Given the description of an element on the screen output the (x, y) to click on. 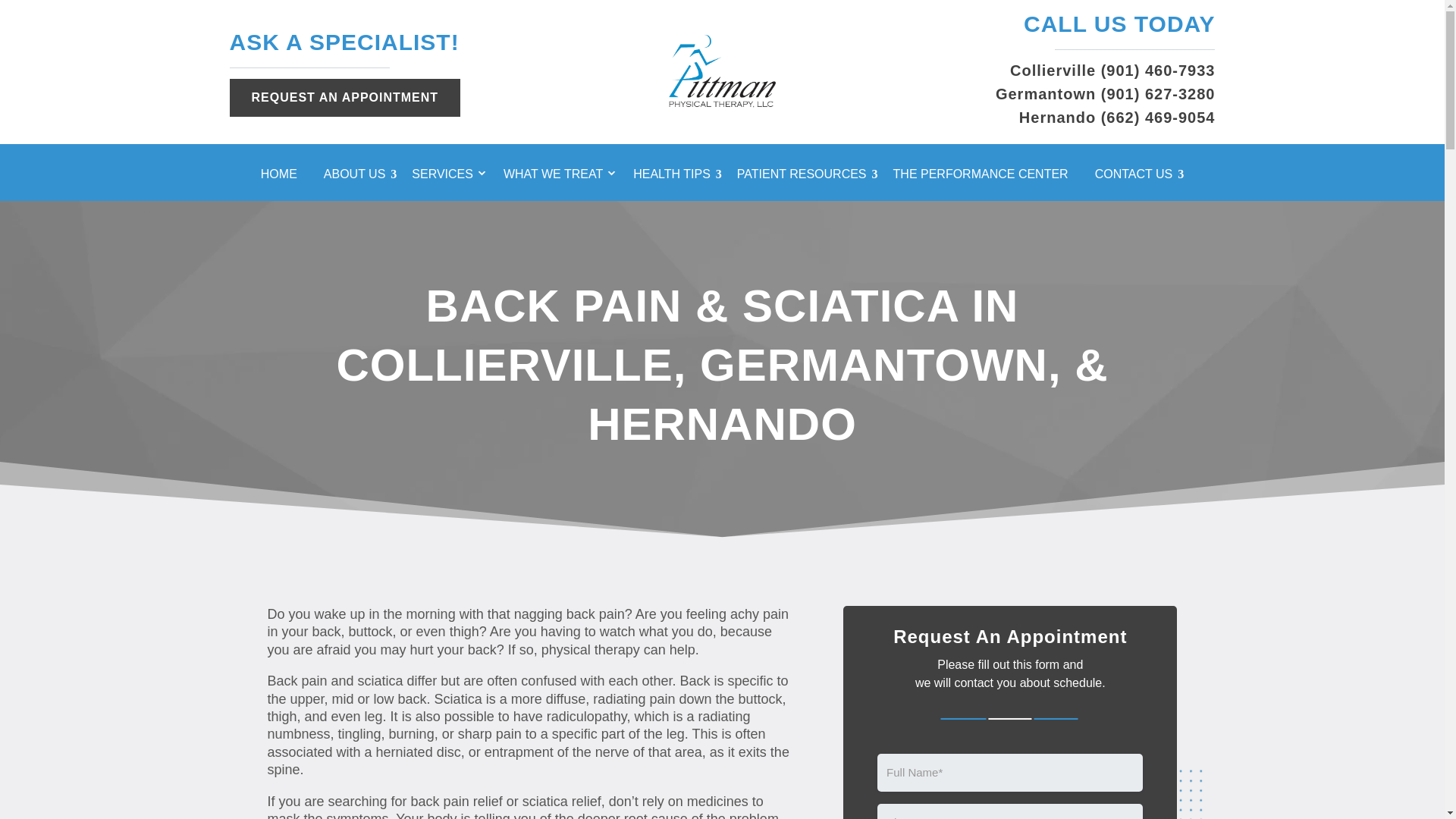
15388 Rehab CEOs Logo -01 (722, 71)
SERVICES (449, 176)
ABOUT US (360, 176)
HOME (284, 176)
REQUEST AN APPOINTMENT (344, 97)
PATIENT RESOURCES (806, 176)
THE PERFORMANCE CENTER (986, 176)
WHAT WE TREAT (560, 176)
HEALTH TIPS (677, 176)
CONTACT US (1139, 176)
